Given the description of an element on the screen output the (x, y) to click on. 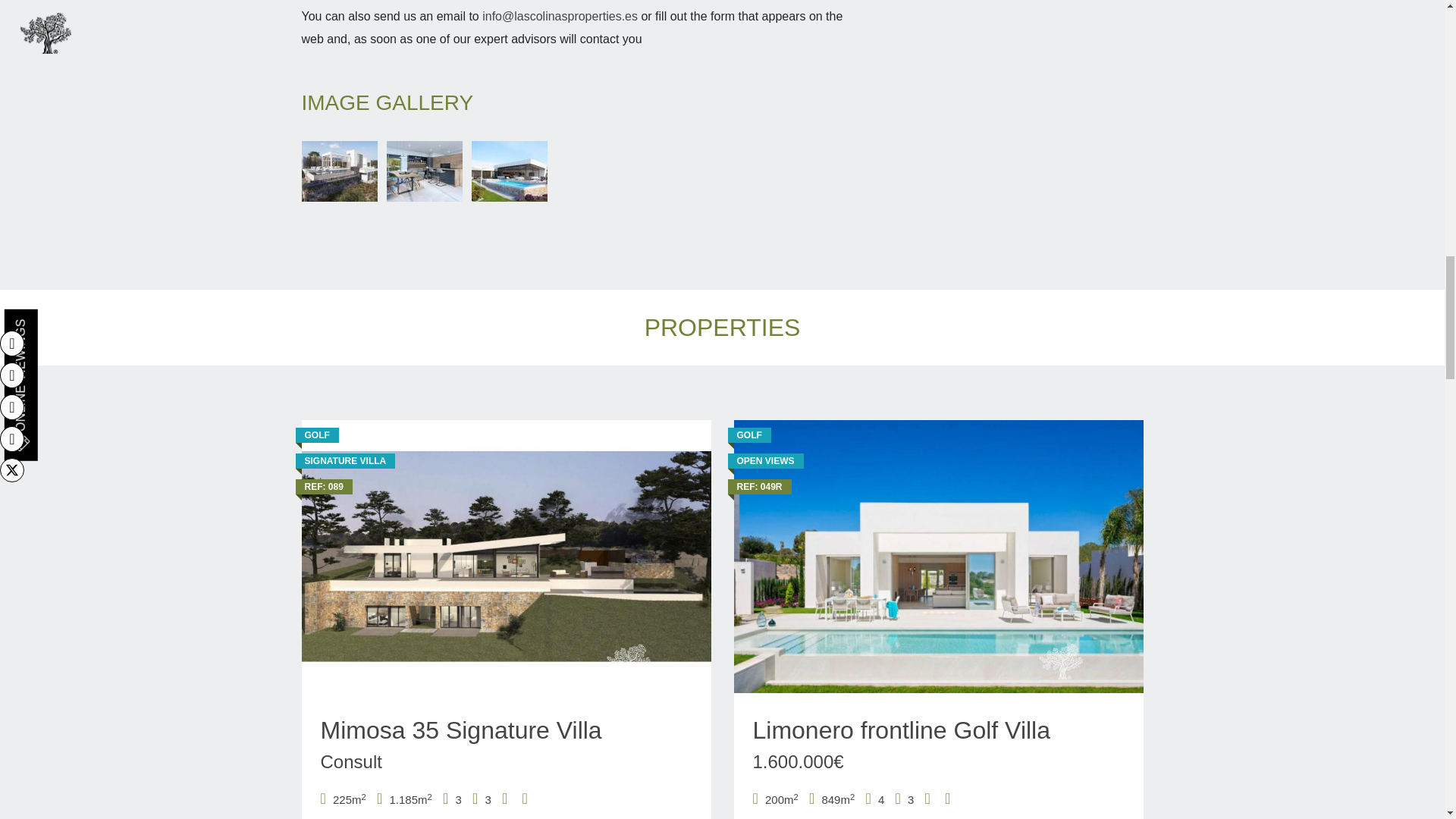
Villas - Resales - Las Colinas Golf - Las Colinas (937, 556)
Villas - New Build - Las Colinas Golf - Las Colinas (506, 556)
